Given the description of an element on the screen output the (x, y) to click on. 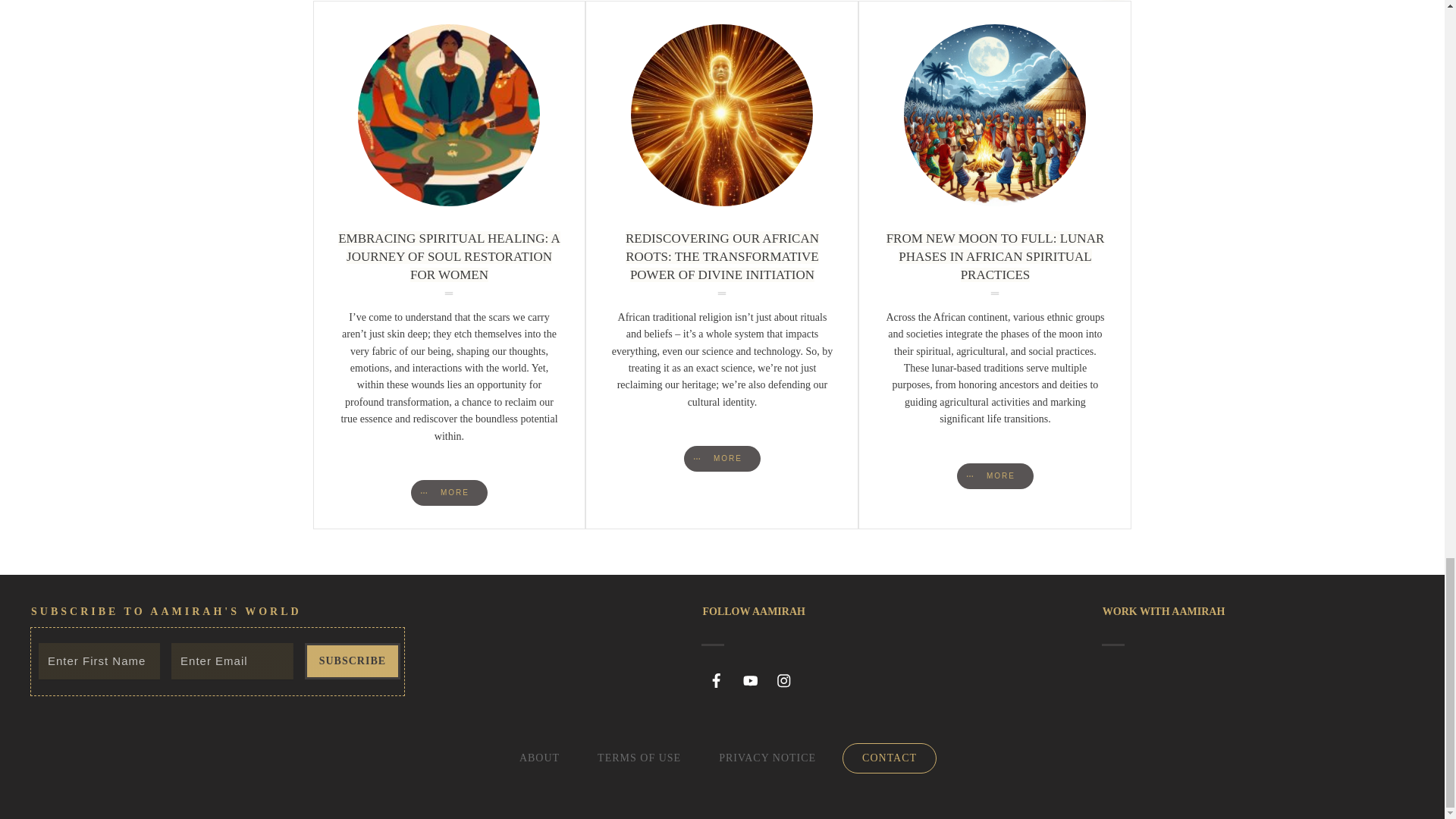
MORE (722, 458)
MORE (994, 475)
MORE (448, 492)
CONTACT (889, 758)
SUBSCRIBE (352, 660)
